Given the description of an element on the screen output the (x, y) to click on. 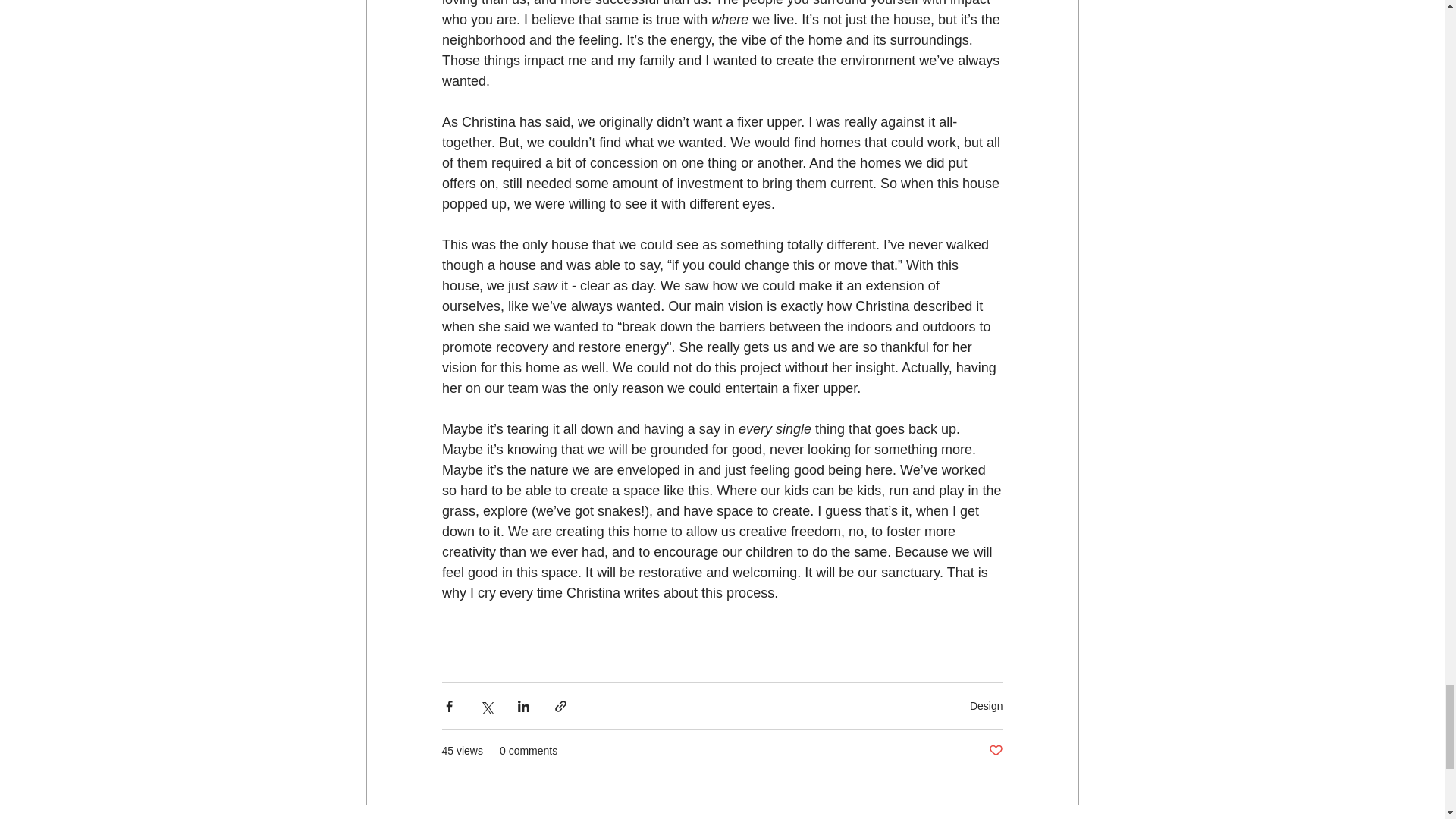
Post not marked as liked (995, 750)
Design (986, 705)
